Given the description of an element on the screen output the (x, y) to click on. 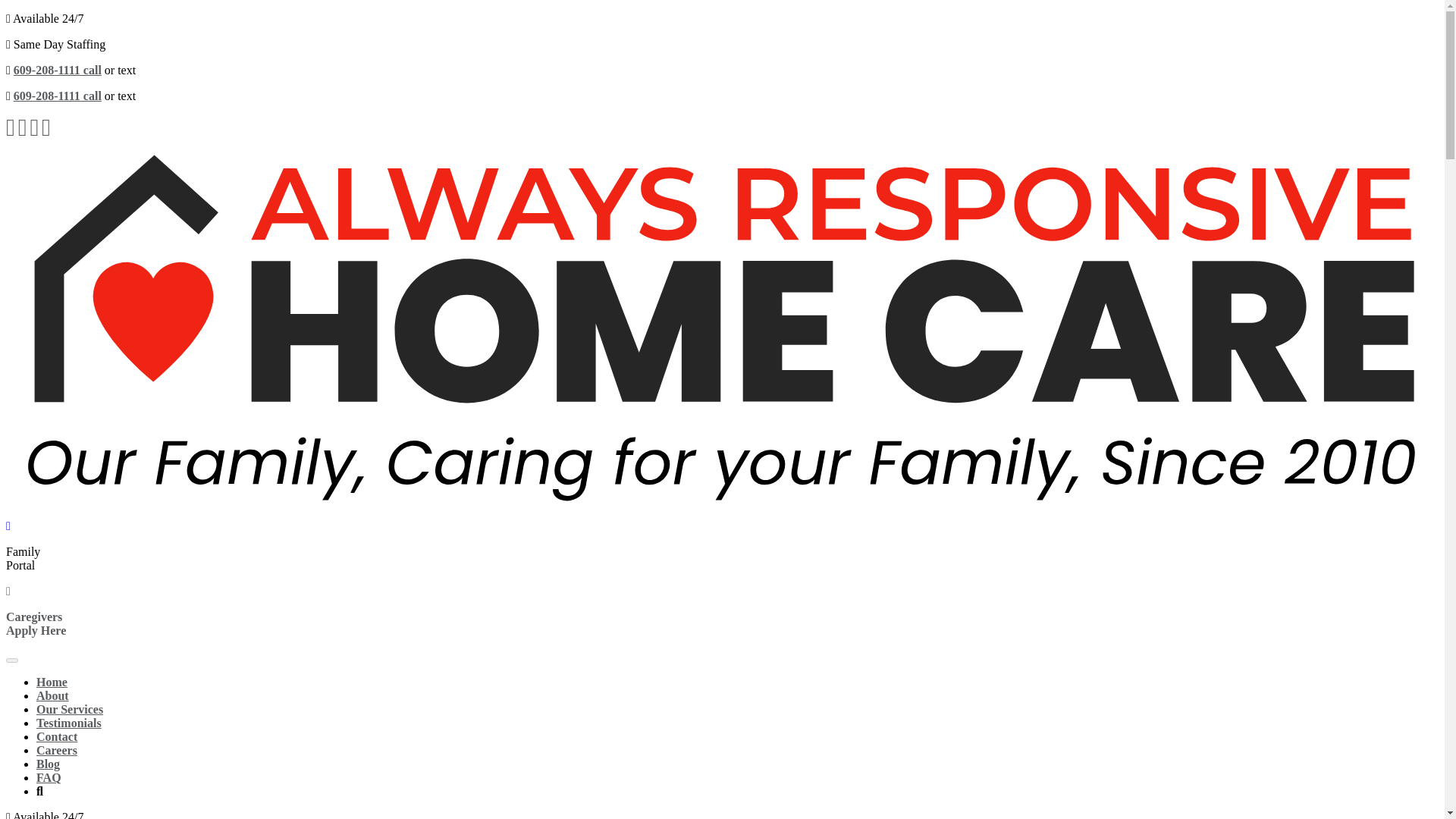
609-208-1111 call (57, 69)
Careers (35, 623)
Testimonials (56, 749)
Contact (68, 722)
FAQ (56, 736)
Home (48, 777)
Blog (51, 681)
609-208-1111 call (47, 763)
About (57, 95)
Our Services (52, 695)
